Given the description of an element on the screen output the (x, y) to click on. 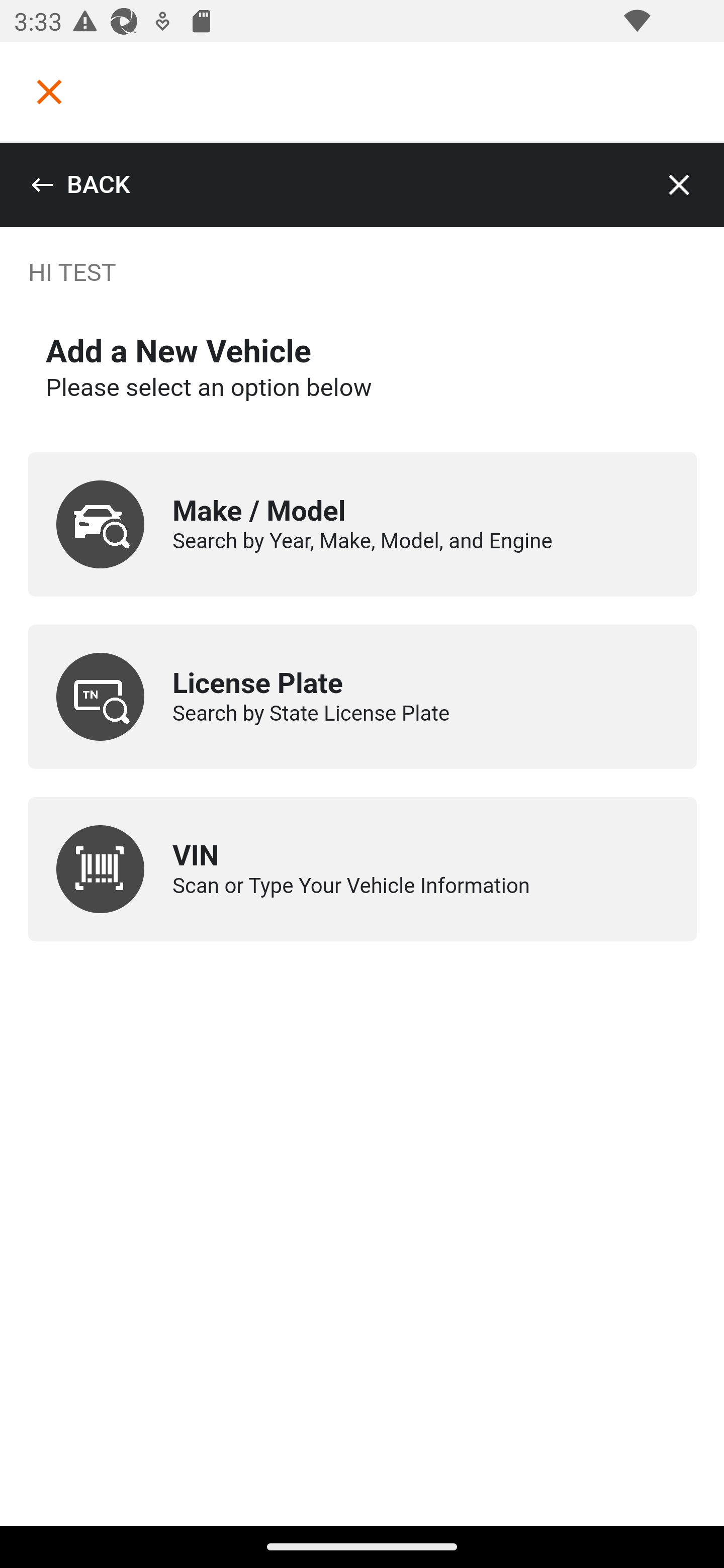
 (49, 91)
BACK (79, 184)
Close (679, 184)
License Plate Search by State License Plate (363, 696)
VIN Scan or Type Your Vehicle Information (363, 869)
